Given the description of an element on the screen output the (x, y) to click on. 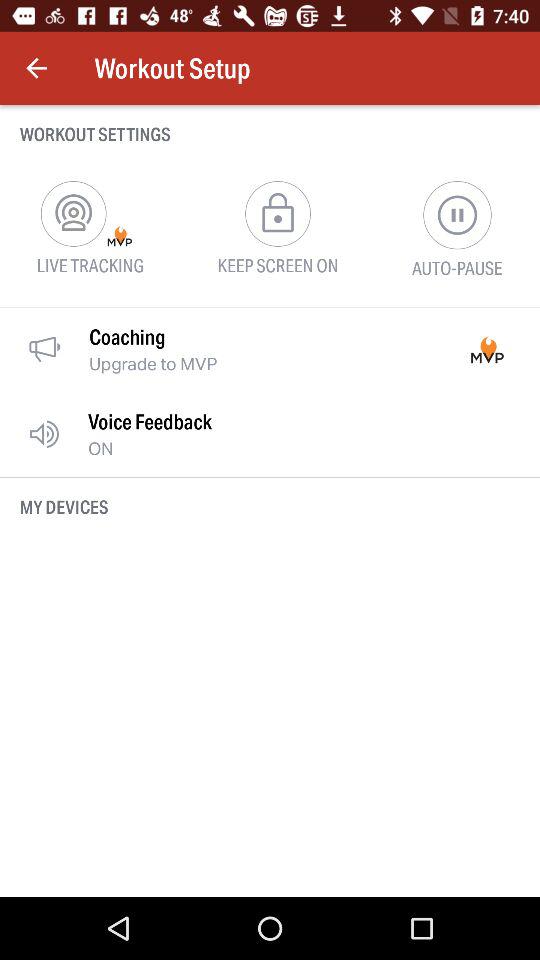
turn off icon above the workout settings item (36, 68)
